Given the description of an element on the screen output the (x, y) to click on. 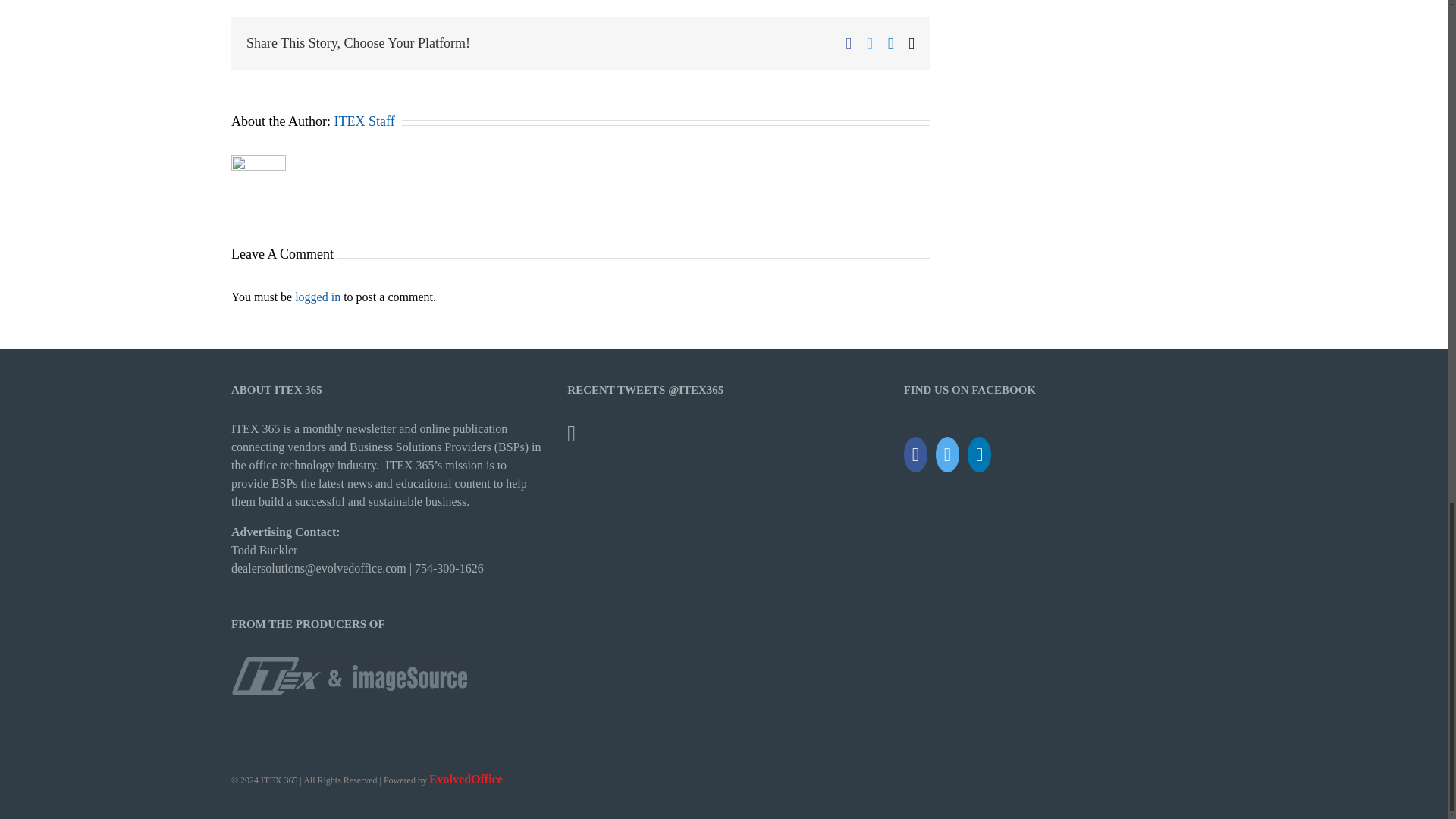
ITEX Staff (363, 120)
Screen-Shot-2017-03-21-at-3.01.02-PM (350, 675)
Posts by ITEX Staff (363, 120)
